Given the description of an element on the screen output the (x, y) to click on. 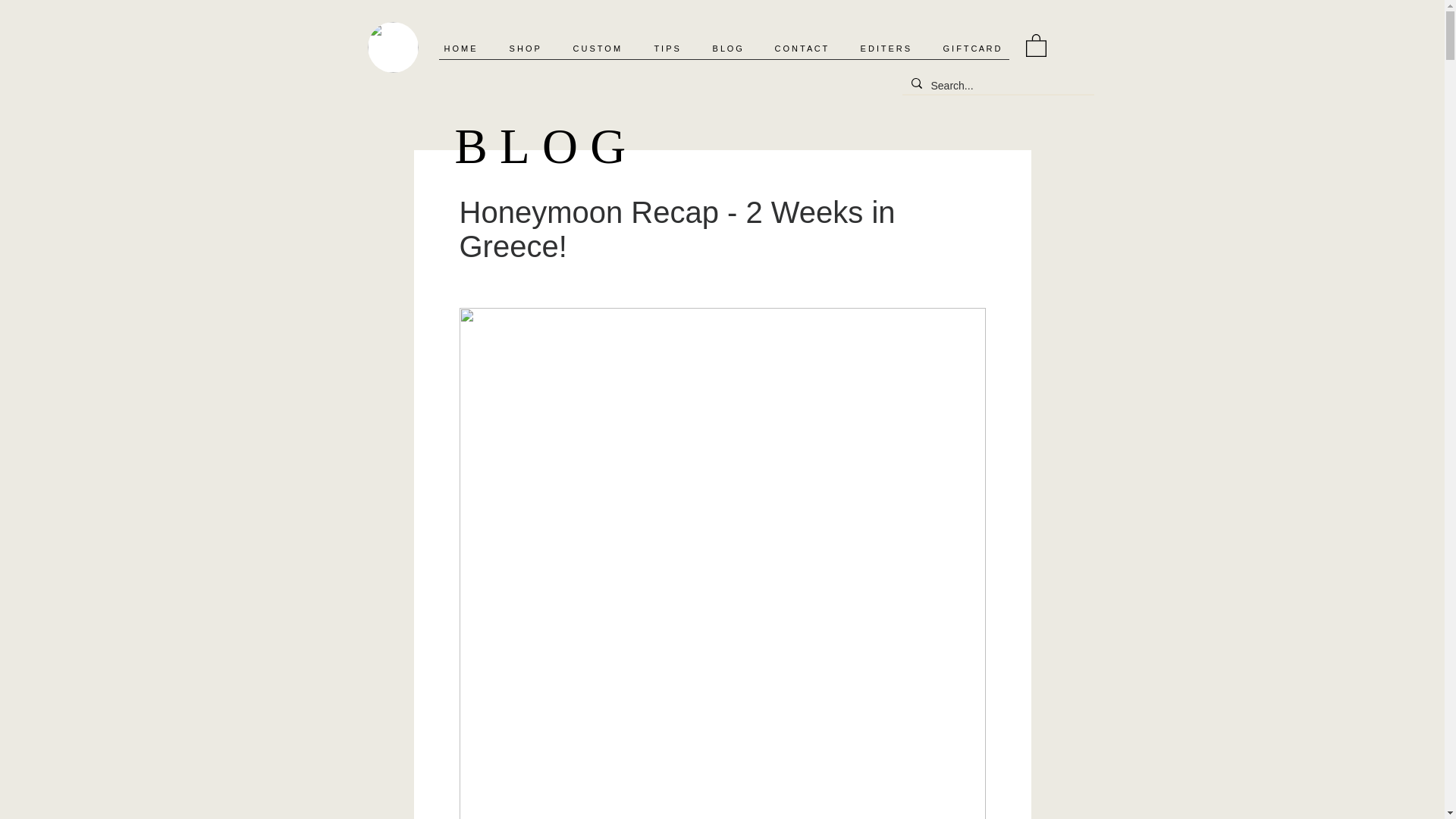
B L O G (731, 47)
S H O P (528, 47)
T I P S (672, 47)
C O N T A C T (805, 47)
G I F T C A R D (976, 47)
E D I T E R S (889, 47)
H O M E (464, 47)
C U S T O M (601, 47)
